Given the description of an element on the screen output the (x, y) to click on. 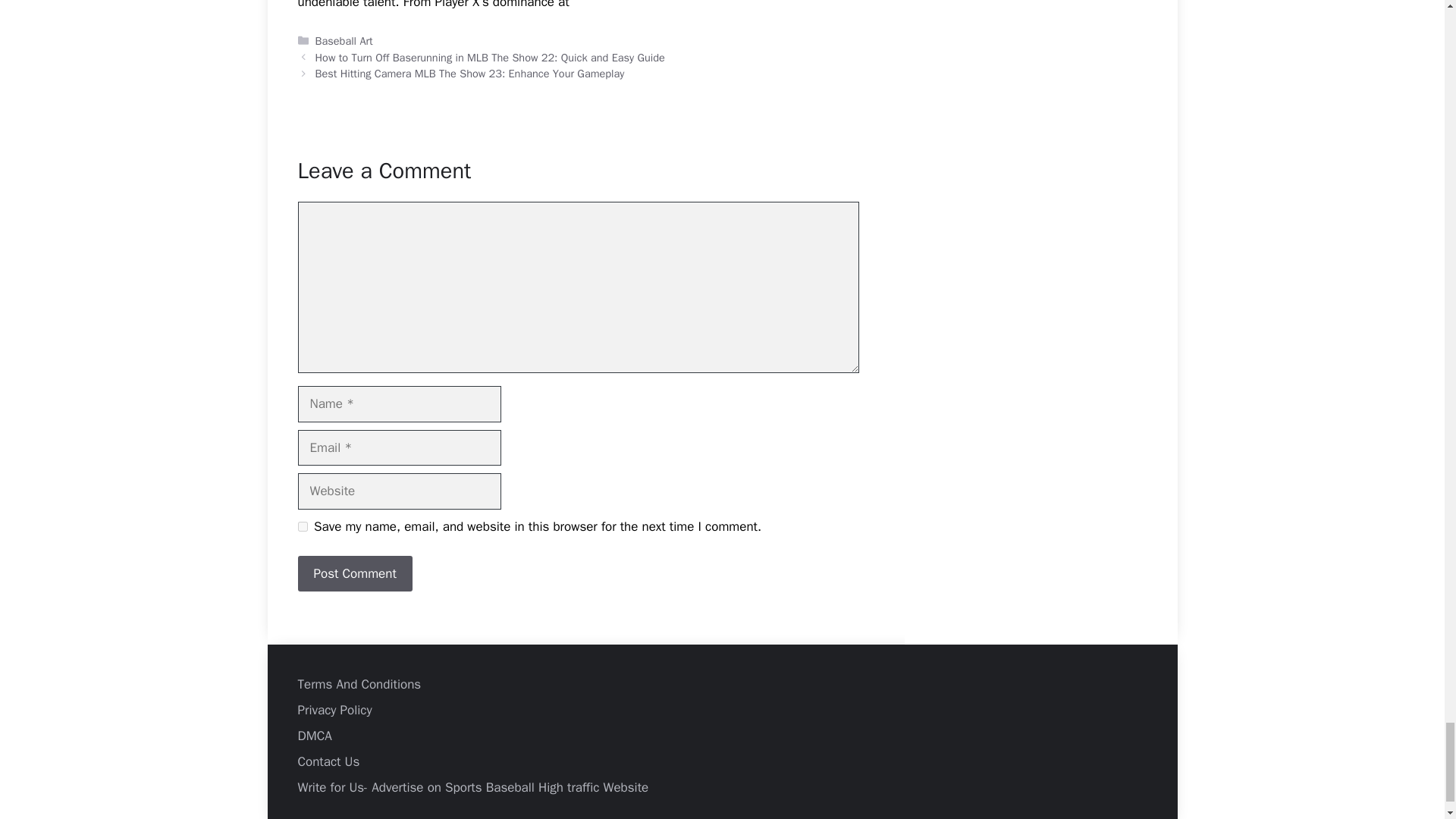
Post Comment (354, 574)
Baseball Art (343, 40)
Best Hitting Camera MLB The Show 23: Enhance Your Gameplay (469, 73)
Post Comment (354, 574)
yes (302, 526)
